Given the description of an element on the screen output the (x, y) to click on. 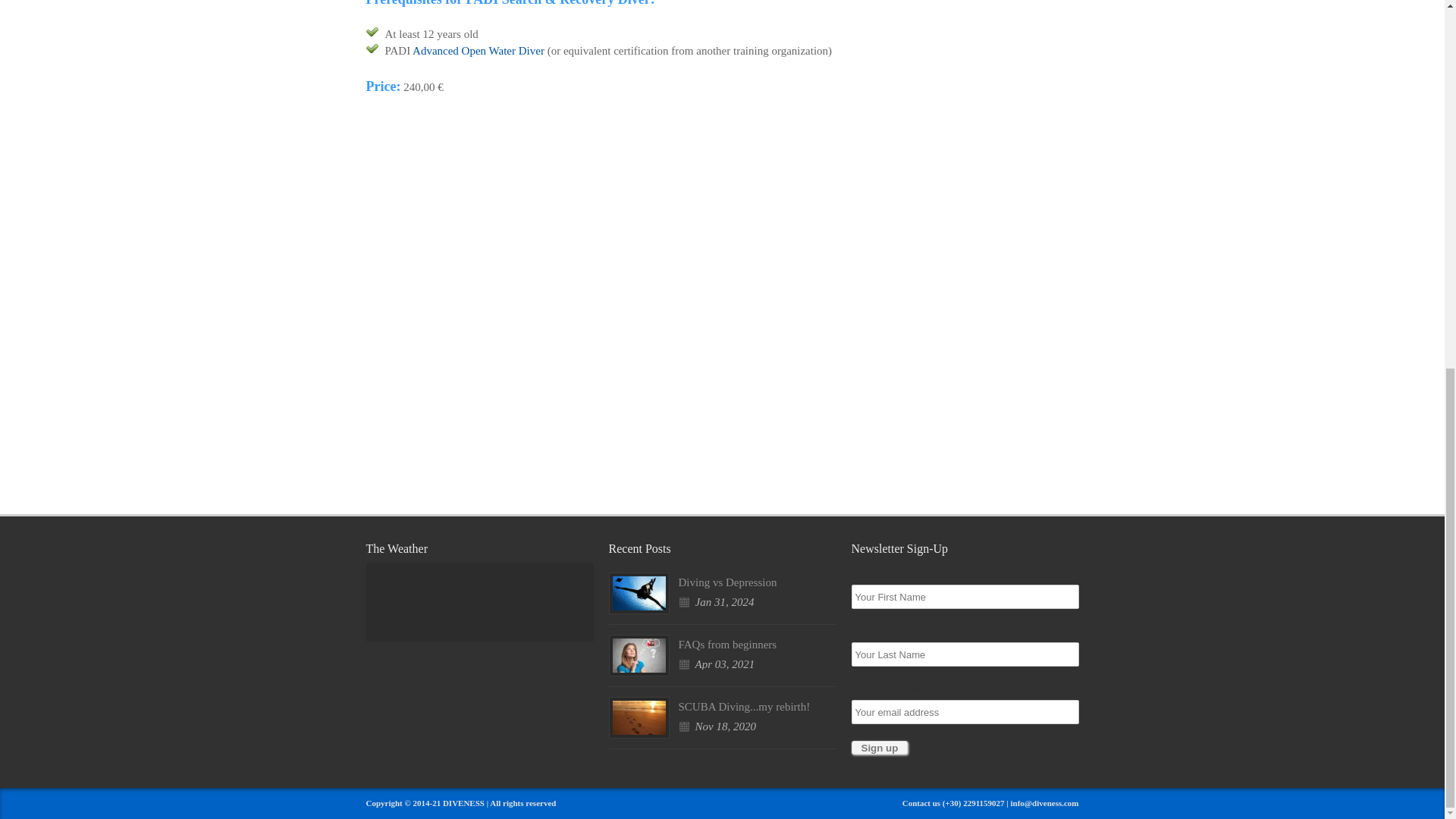
Advanced Open Water Diver (478, 50)
Sign up (878, 747)
SCUBA Diving...my rebirth! (743, 706)
FAQs from beginners (727, 644)
Diving vs Depression (727, 582)
Sign up (878, 747)
